Given the description of an element on the screen output the (x, y) to click on. 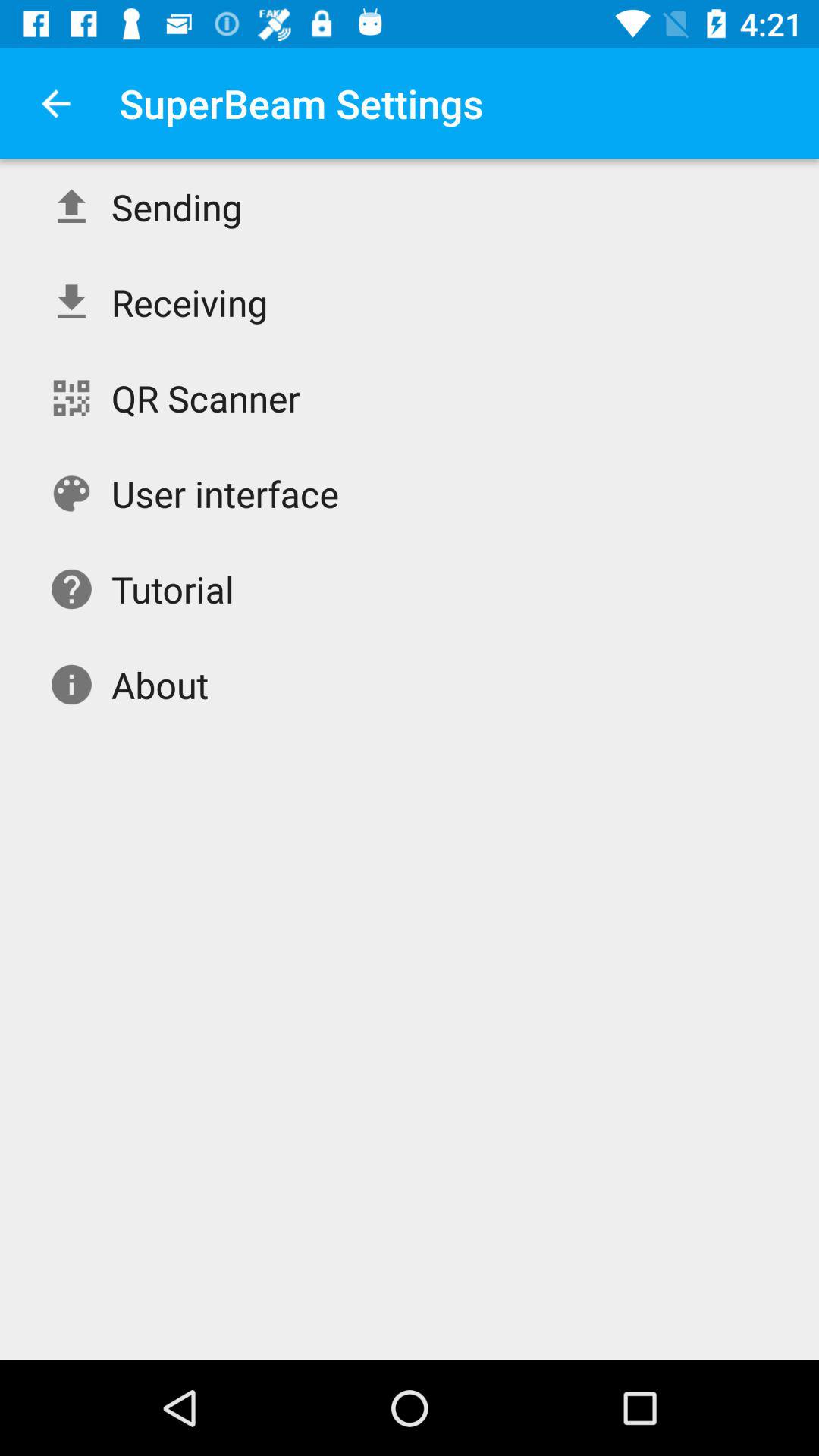
tap the receiving (189, 302)
